Given the description of an element on the screen output the (x, y) to click on. 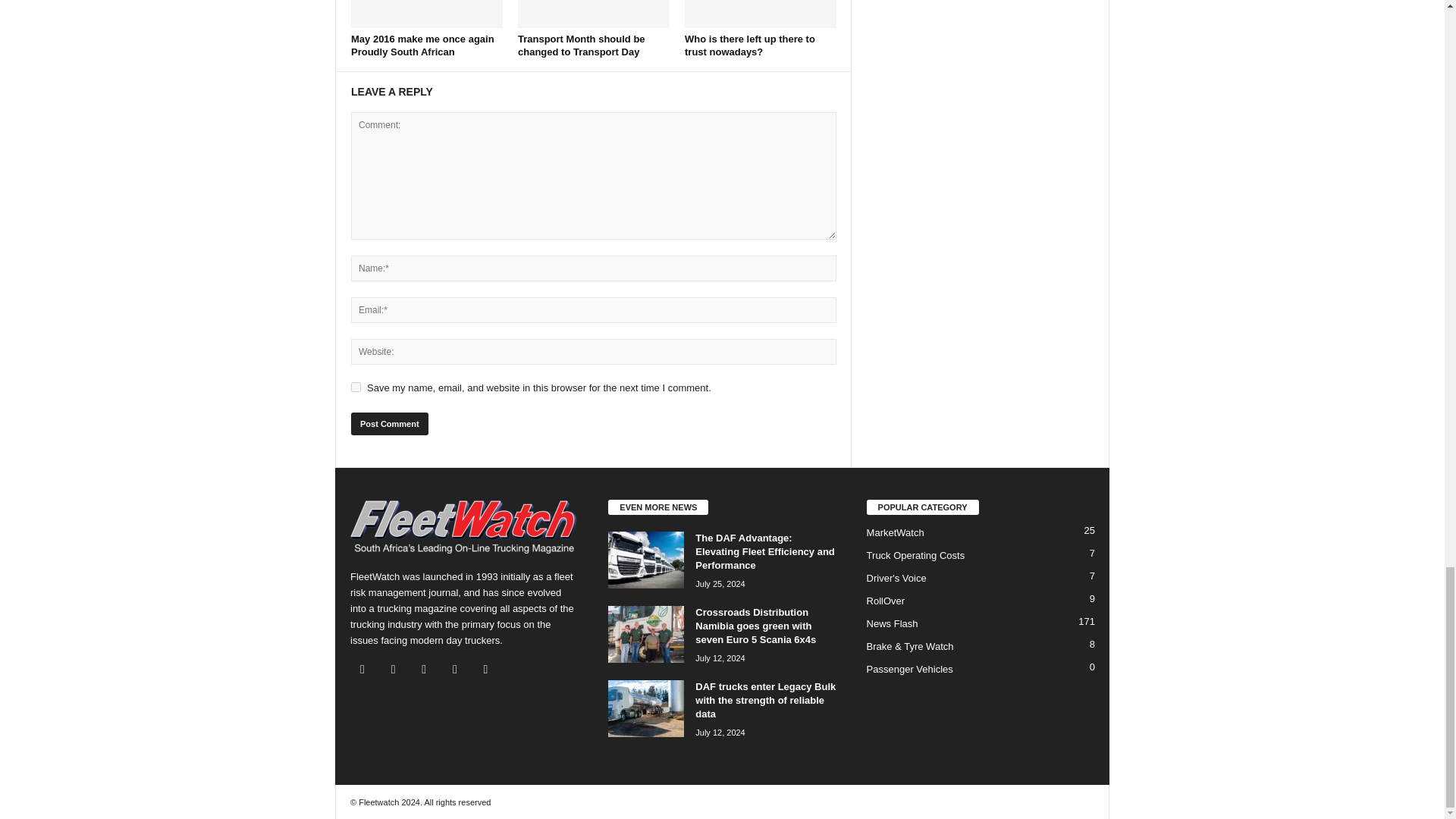
yes (355, 387)
Post Comment (389, 423)
